Given the description of an element on the screen output the (x, y) to click on. 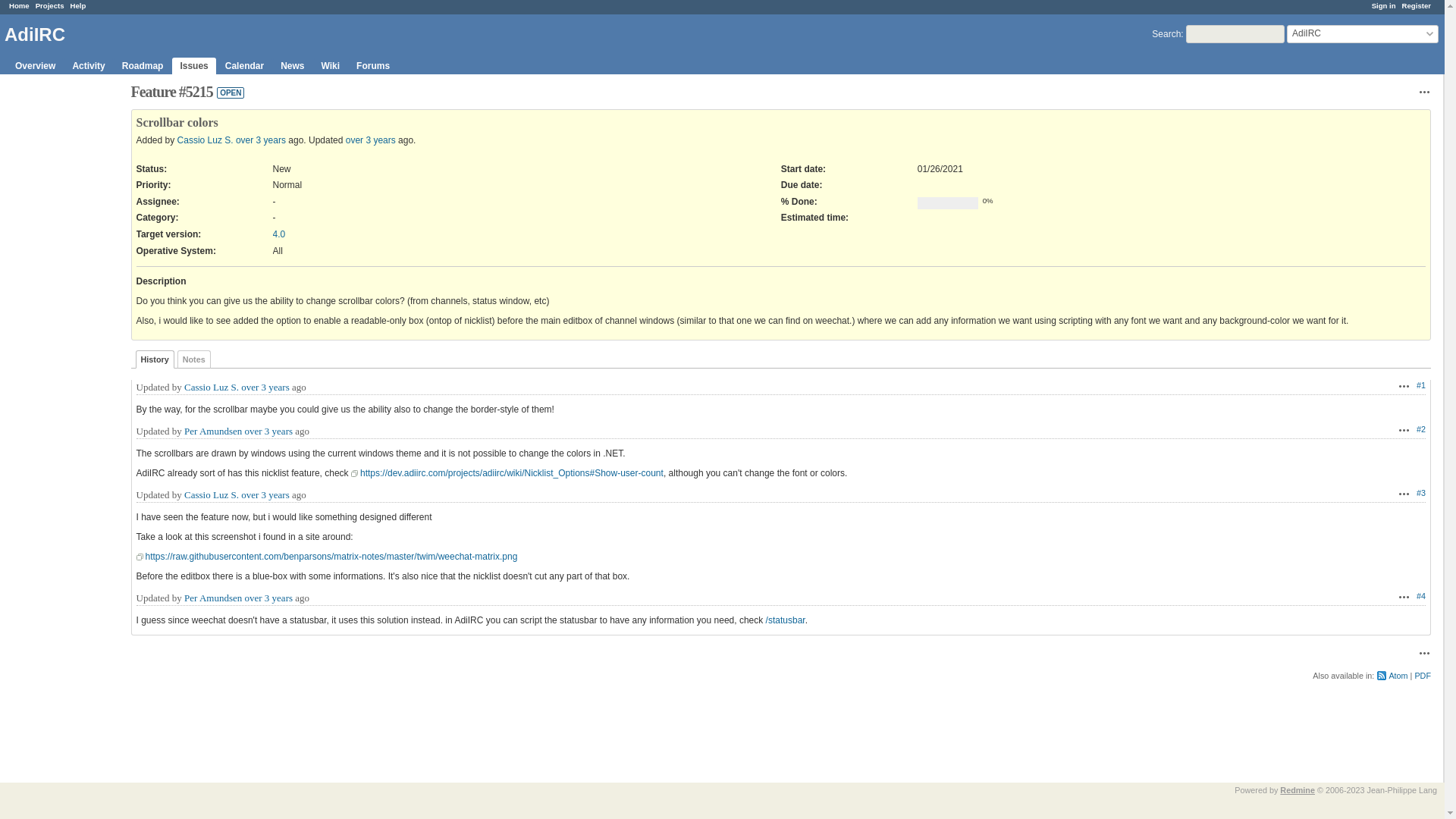
Register (1416, 5)
News (292, 65)
over 3 years (265, 494)
Wiki (330, 65)
Help (77, 5)
History (154, 359)
over 3 years (265, 387)
Actions (1403, 429)
Projects (49, 5)
Actions (1424, 91)
Notes (194, 359)
Roadmap (143, 65)
Calendar (243, 65)
4.0 (279, 234)
Sign in (1383, 5)
